Given the description of an element on the screen output the (x, y) to click on. 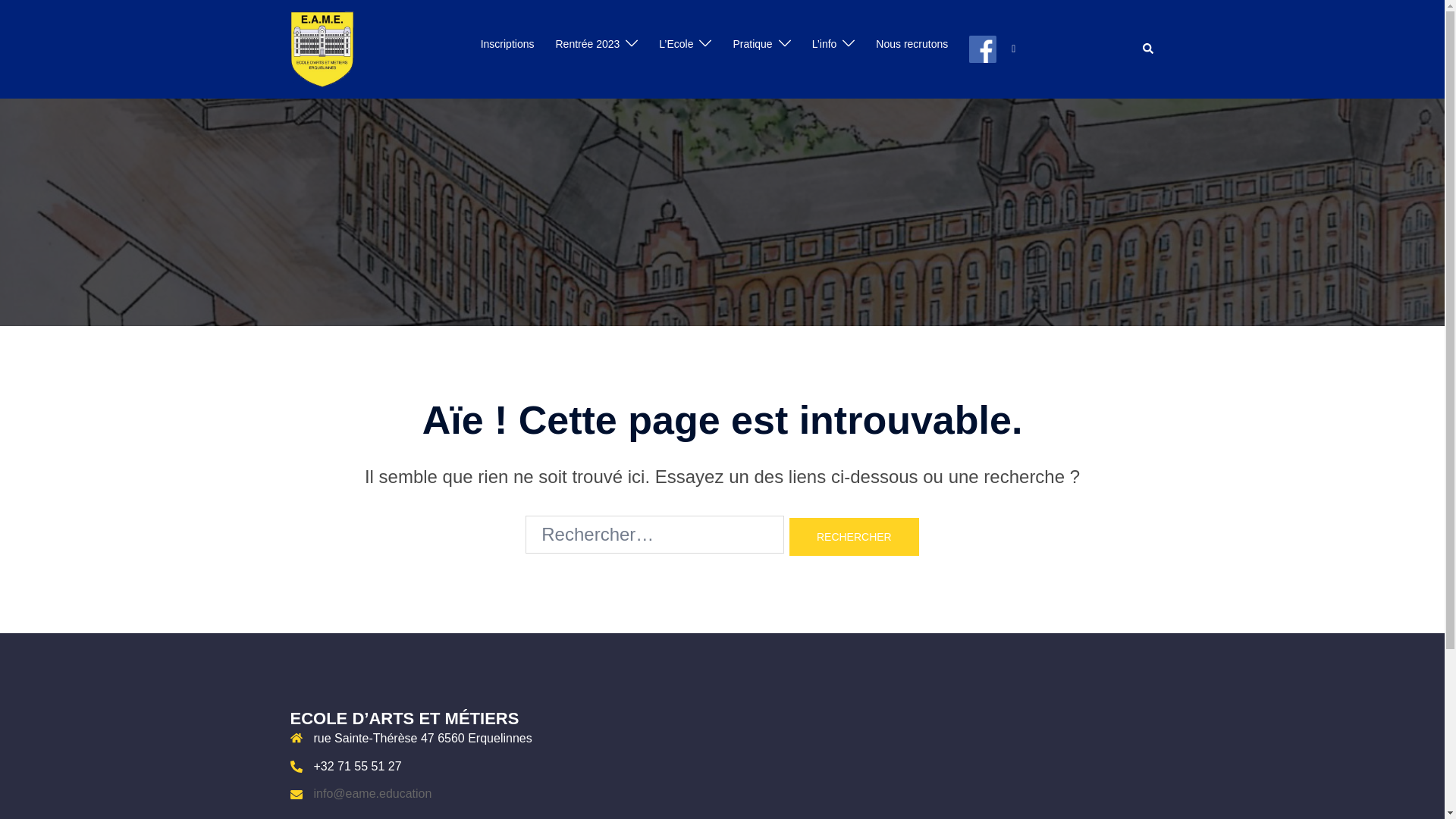
info@eame.education Element type: text (372, 793)
Nous recrutons Element type: text (911, 44)
Rechercher Element type: text (854, 536)
Pratique Element type: text (751, 44)
Inscriptions Element type: text (507, 44)
